Given the description of an element on the screen output the (x, y) to click on. 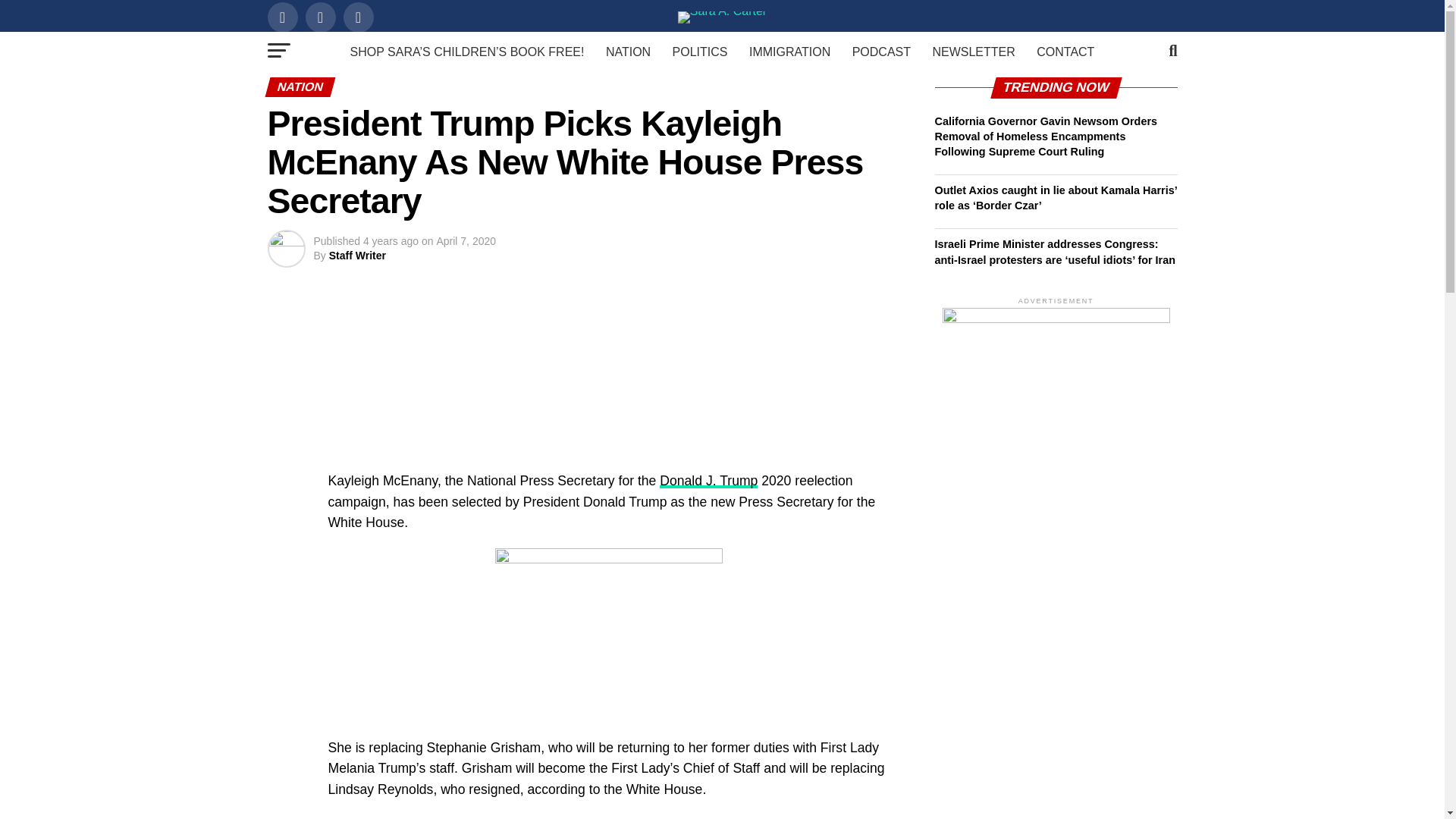
NEWSLETTER (973, 51)
IMMIGRATION (789, 51)
POLITICS (699, 51)
Donald J. Trump (708, 480)
CONTACT (1065, 51)
PODCAST (881, 51)
Posts by Staff Writer (357, 255)
NATION (627, 51)
Staff Writer (357, 255)
